Given the description of an element on the screen output the (x, y) to click on. 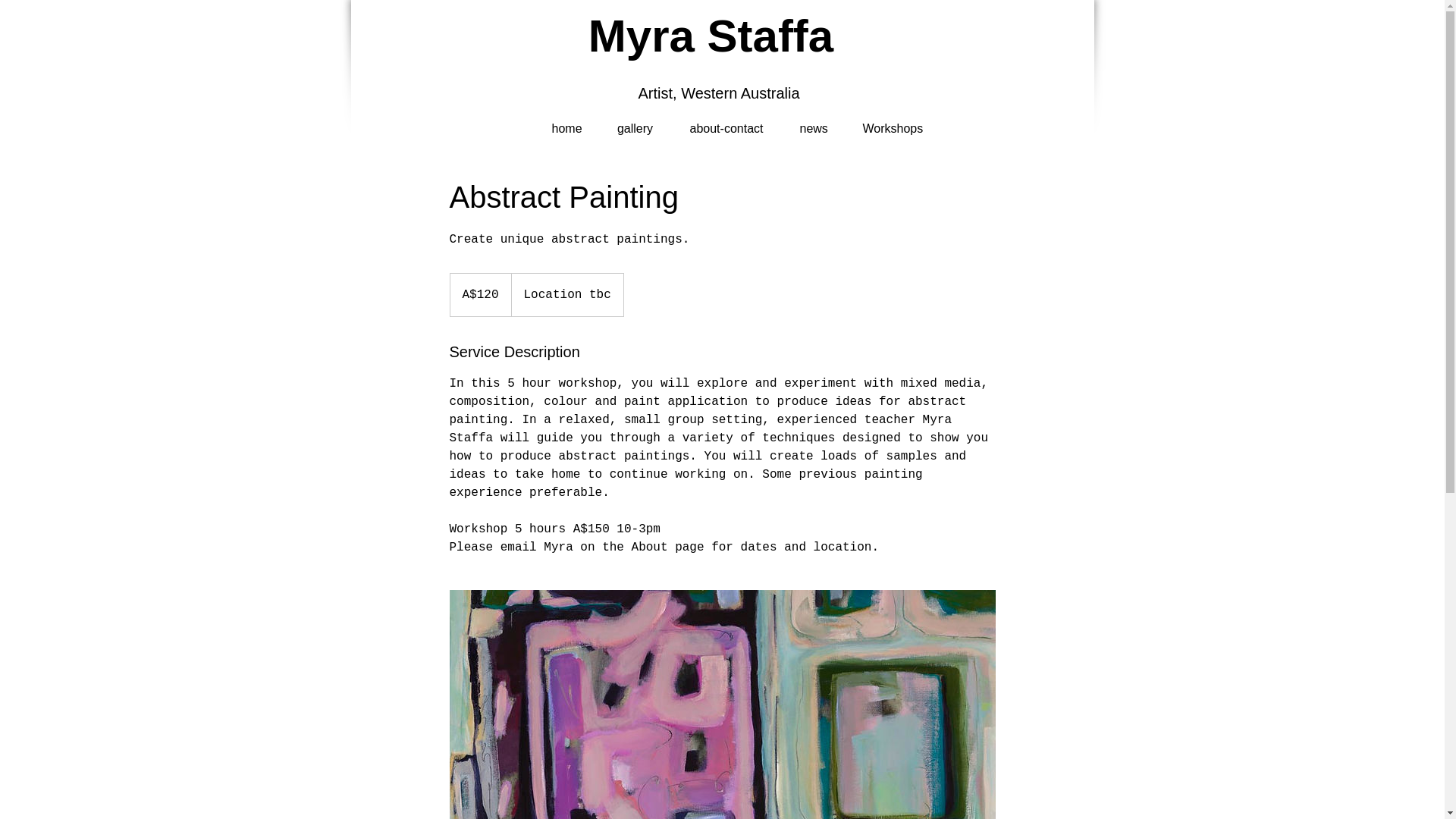
news (814, 121)
home (566, 121)
about-contact (725, 121)
gallery (633, 121)
Workshops (891, 121)
